Given the description of an element on the screen output the (x, y) to click on. 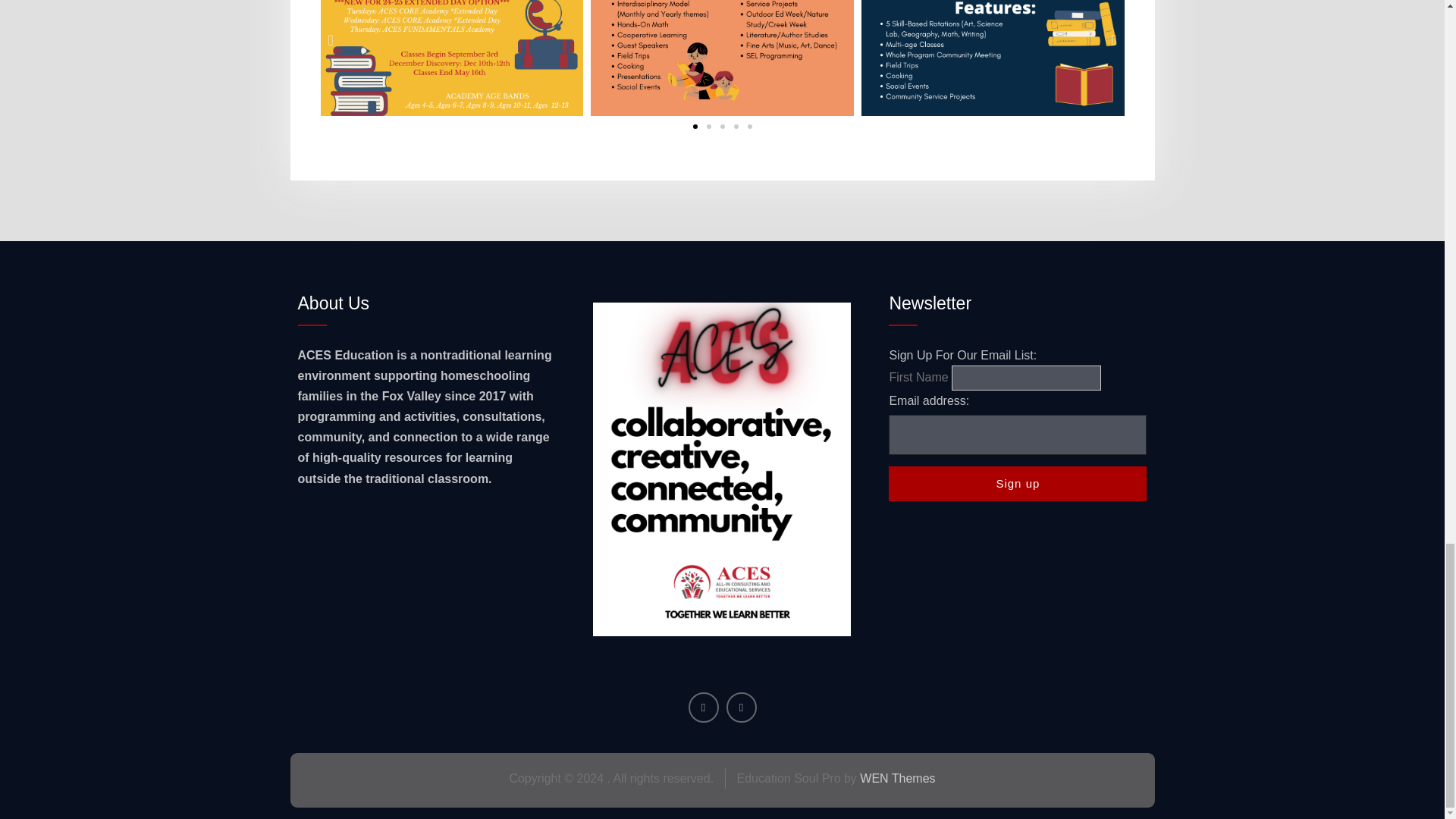
Sign up (1017, 484)
